Given the description of an element on the screen output the (x, y) to click on. 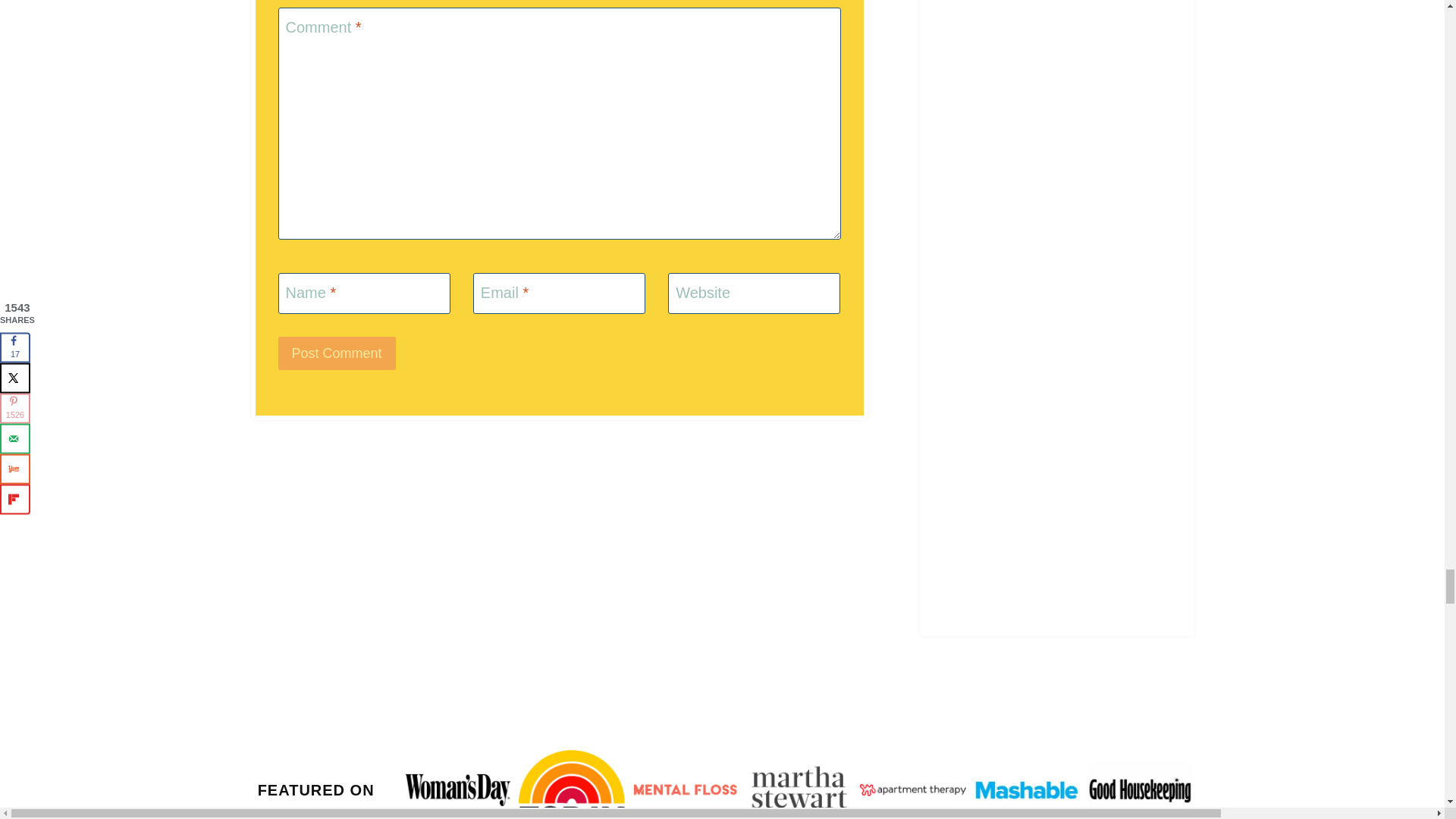
Post Comment (336, 352)
